Given the description of an element on the screen output the (x, y) to click on. 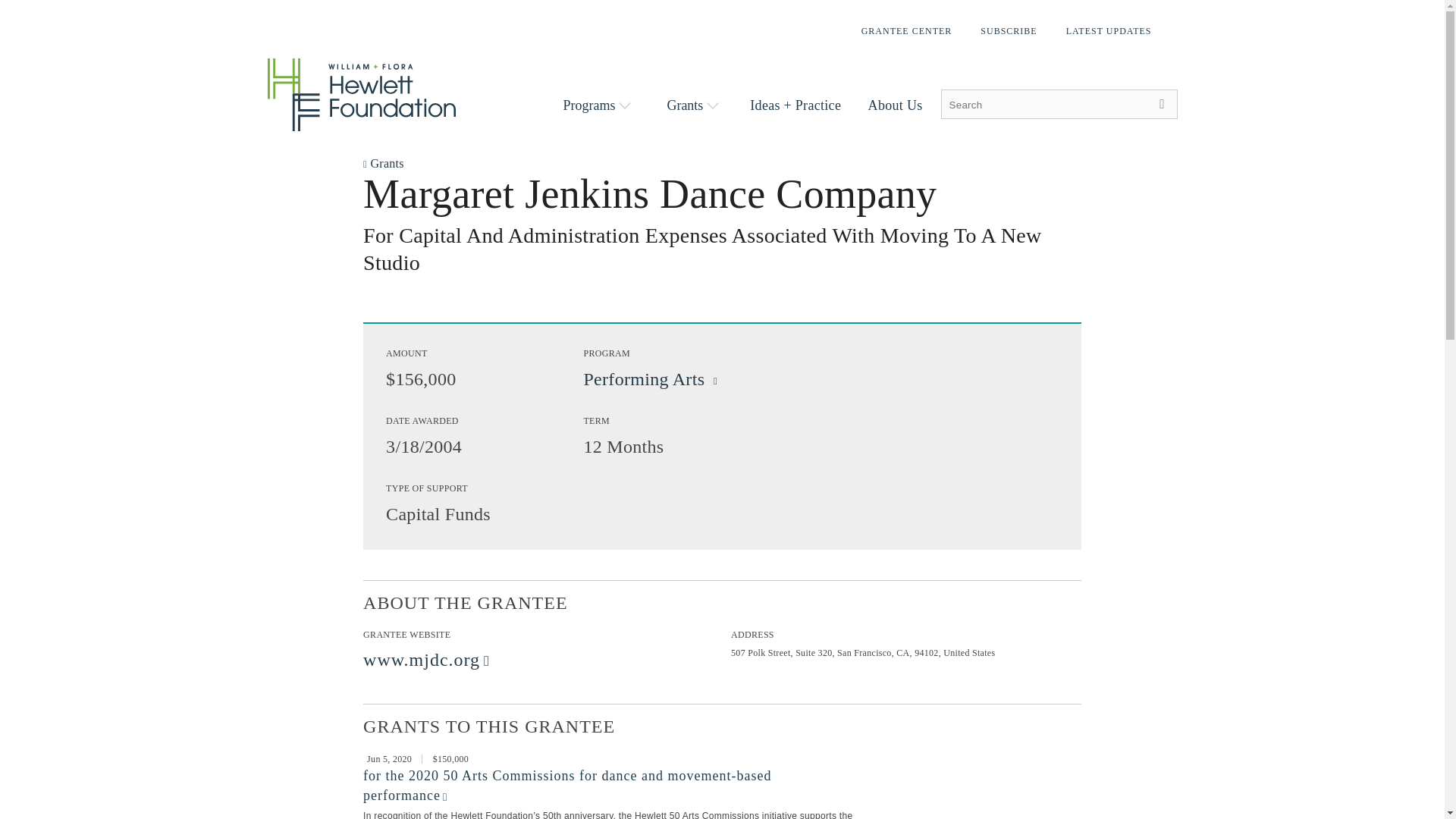
About Us (895, 105)
Search (1161, 103)
LATEST UPDATES (1108, 30)
Grants (692, 104)
Programs (595, 104)
SUBSCRIBE (1007, 30)
GRANTEE CENTER (907, 30)
